Given the description of an element on the screen output the (x, y) to click on. 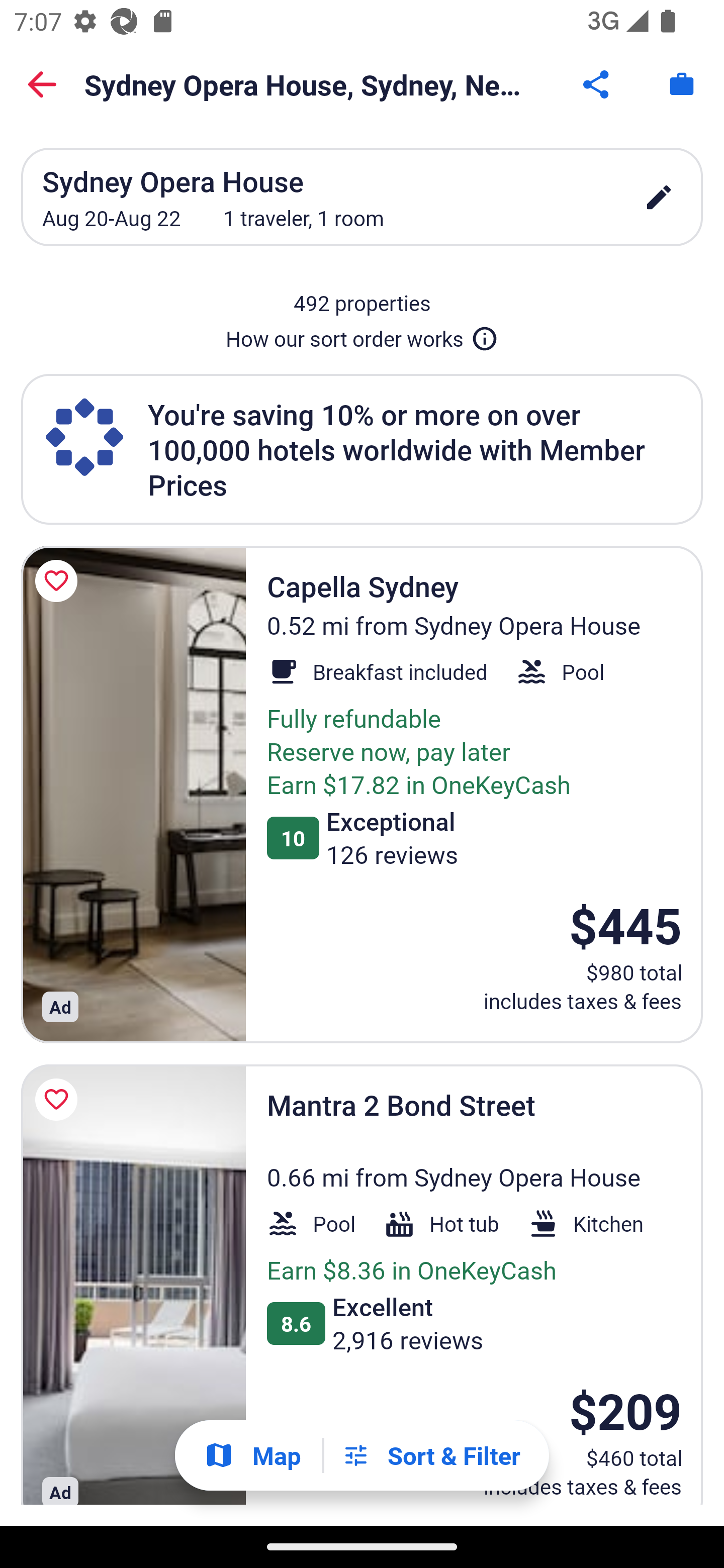
Back (42, 84)
Share Button (597, 84)
Trips. Button (681, 84)
How our sort order works (361, 334)
Save Capella Sydney to a trip (59, 580)
Capella Sydney (133, 793)
Save Mantra 2 Bond Street to a trip (59, 1098)
Mantra 2 Bond Street (133, 1284)
Filters Sort & Filter Filters Button (430, 1455)
Show map Map Show map Button (252, 1455)
